Given the description of an element on the screen output the (x, y) to click on. 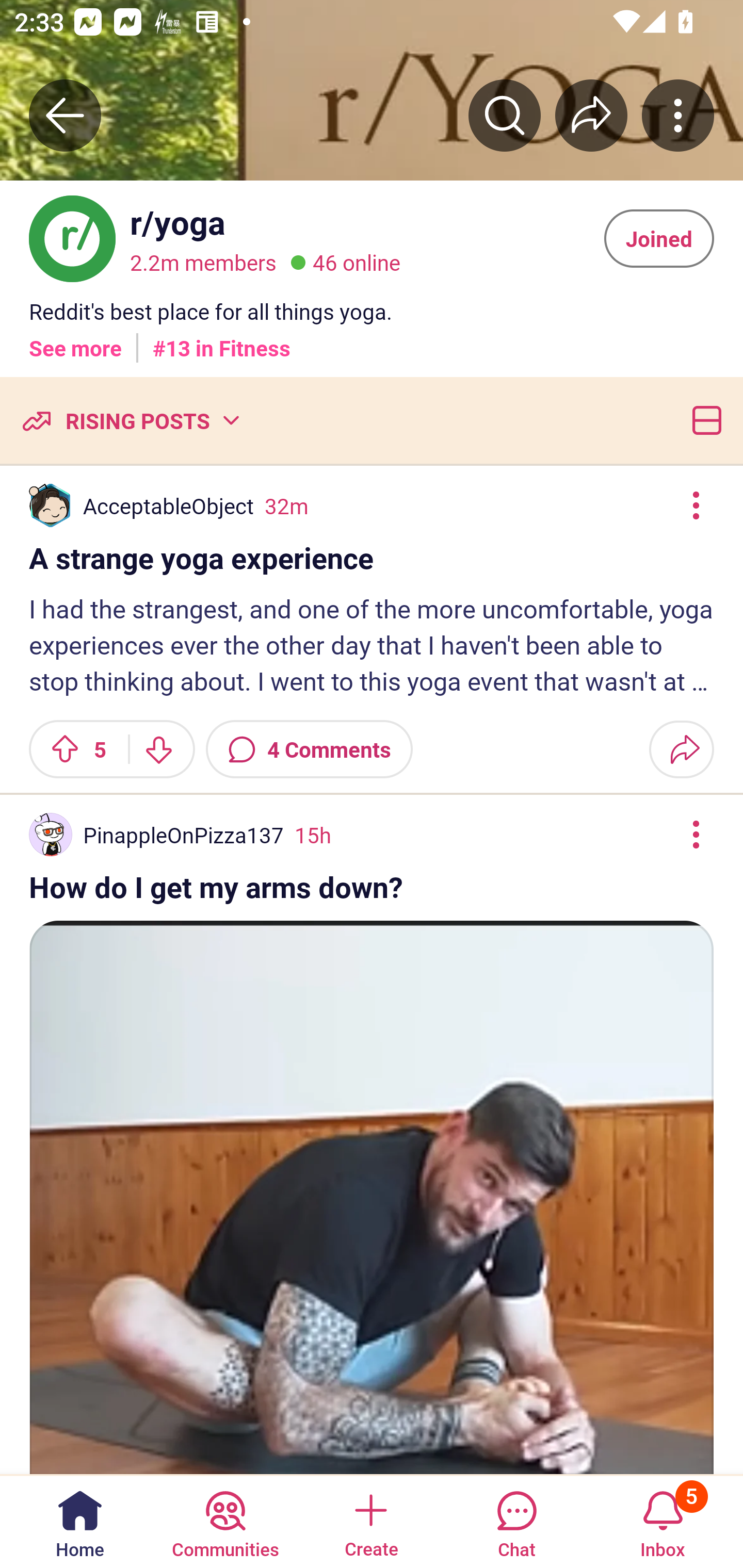
Back (64, 115)
Search r/﻿yoga (504, 115)
Share r/﻿yoga (591, 115)
More community actions (677, 115)
Rising posts RISING POSTS (130, 420)
Card (703, 420)
Home (80, 1520)
Communities (225, 1520)
Create a post Create (370, 1520)
Chat (516, 1520)
Inbox, has 5 notifications 5 Inbox (662, 1520)
